Given the description of an element on the screen output the (x, y) to click on. 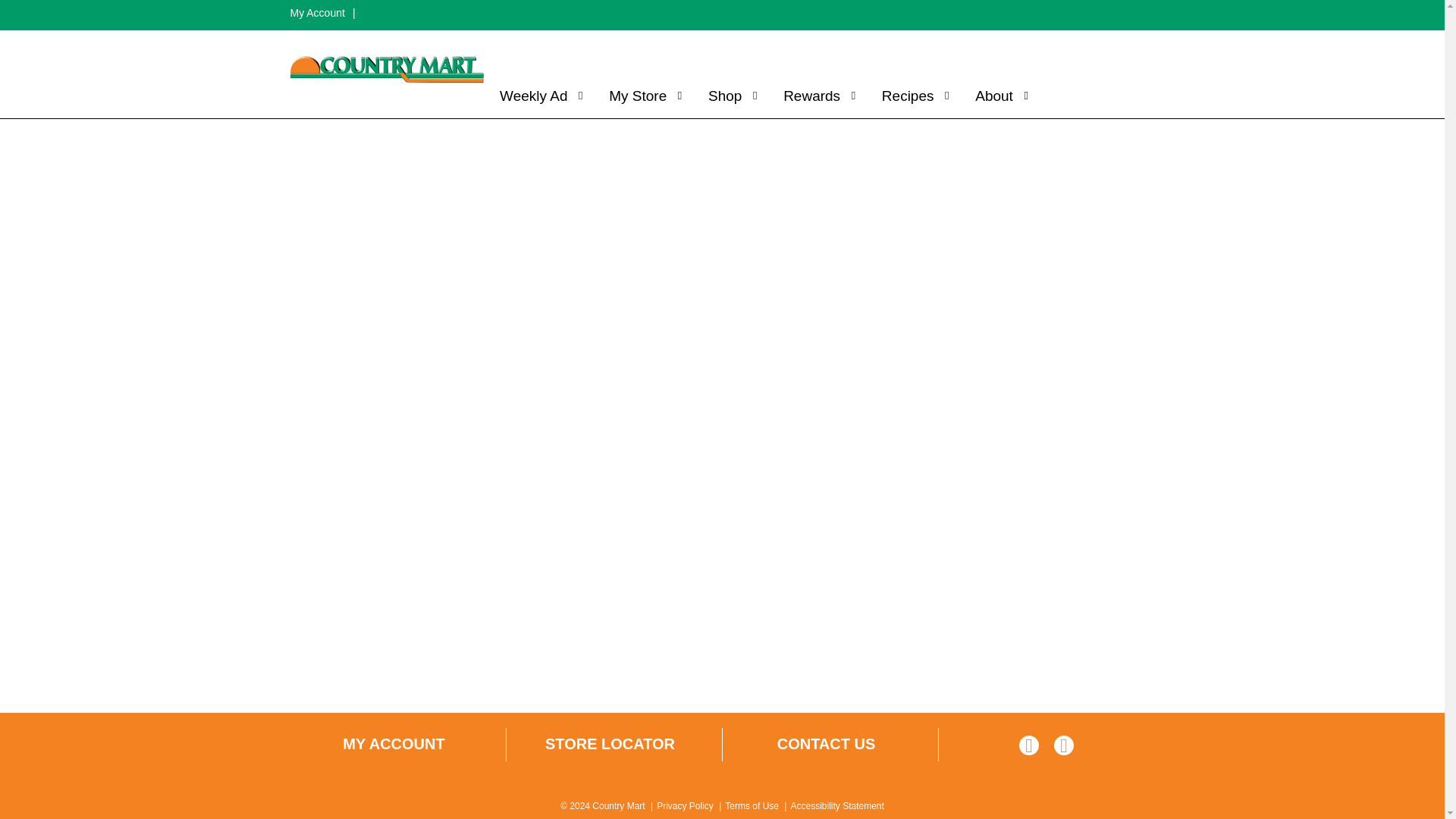
MY ACCOUNT (393, 744)
My Store (641, 95)
Recipes (911, 95)
Weekly Ad (536, 95)
Rewards (815, 95)
CONTACT US (826, 744)
Shop (728, 95)
STORE LOCATOR (609, 744)
facebook (1029, 748)
About (997, 95)
twitter (1064, 748)
Privacy Policy (684, 805)
Country Mart (386, 69)
My Account (316, 12)
